Given the description of an element on the screen output the (x, y) to click on. 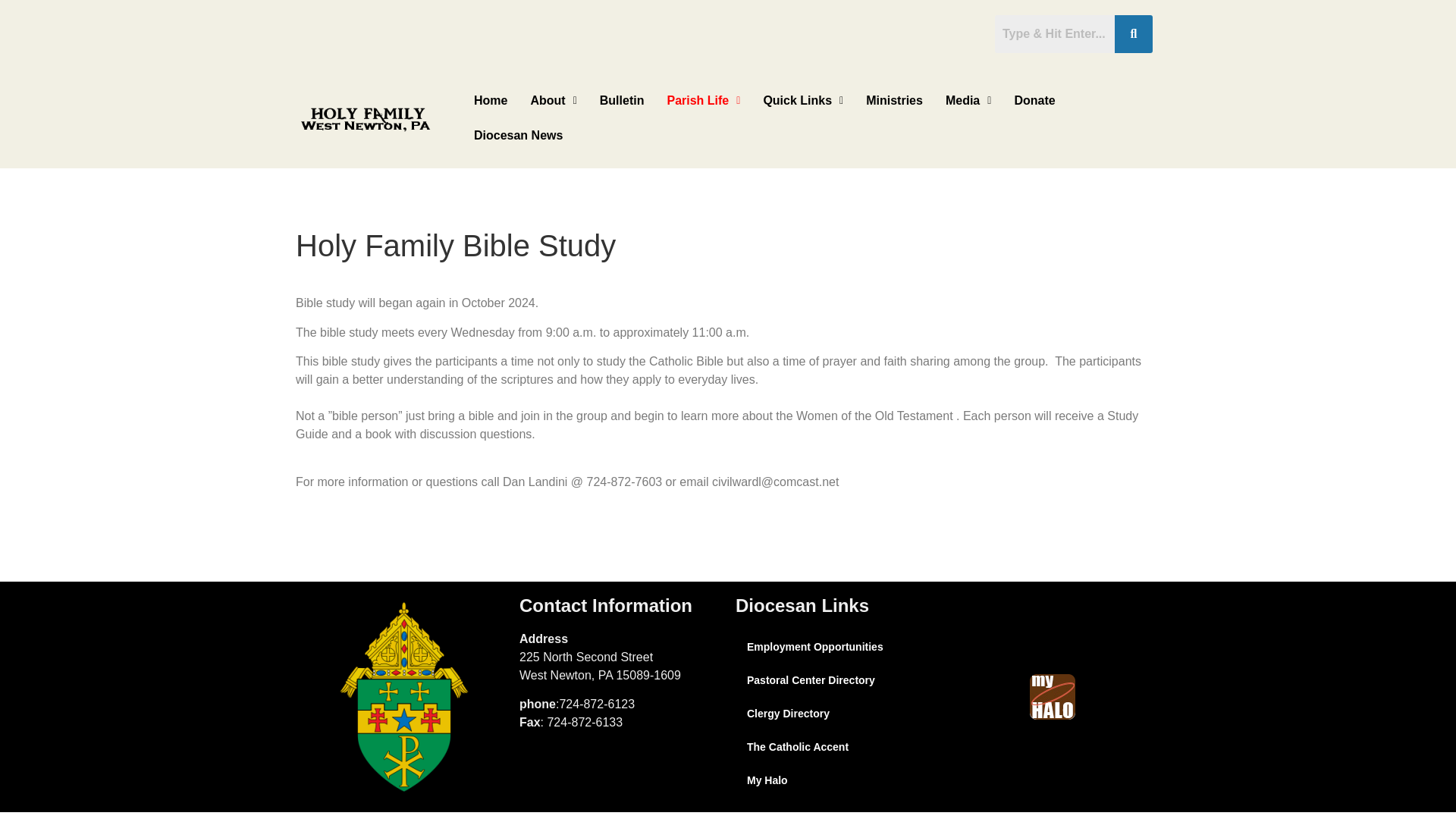
Bulletin (622, 100)
Quick Links (802, 100)
Search (1054, 34)
Ministries (894, 100)
Home (490, 100)
About (553, 100)
Media (968, 100)
Parish Life (703, 100)
